Given the description of an element on the screen output the (x, y) to click on. 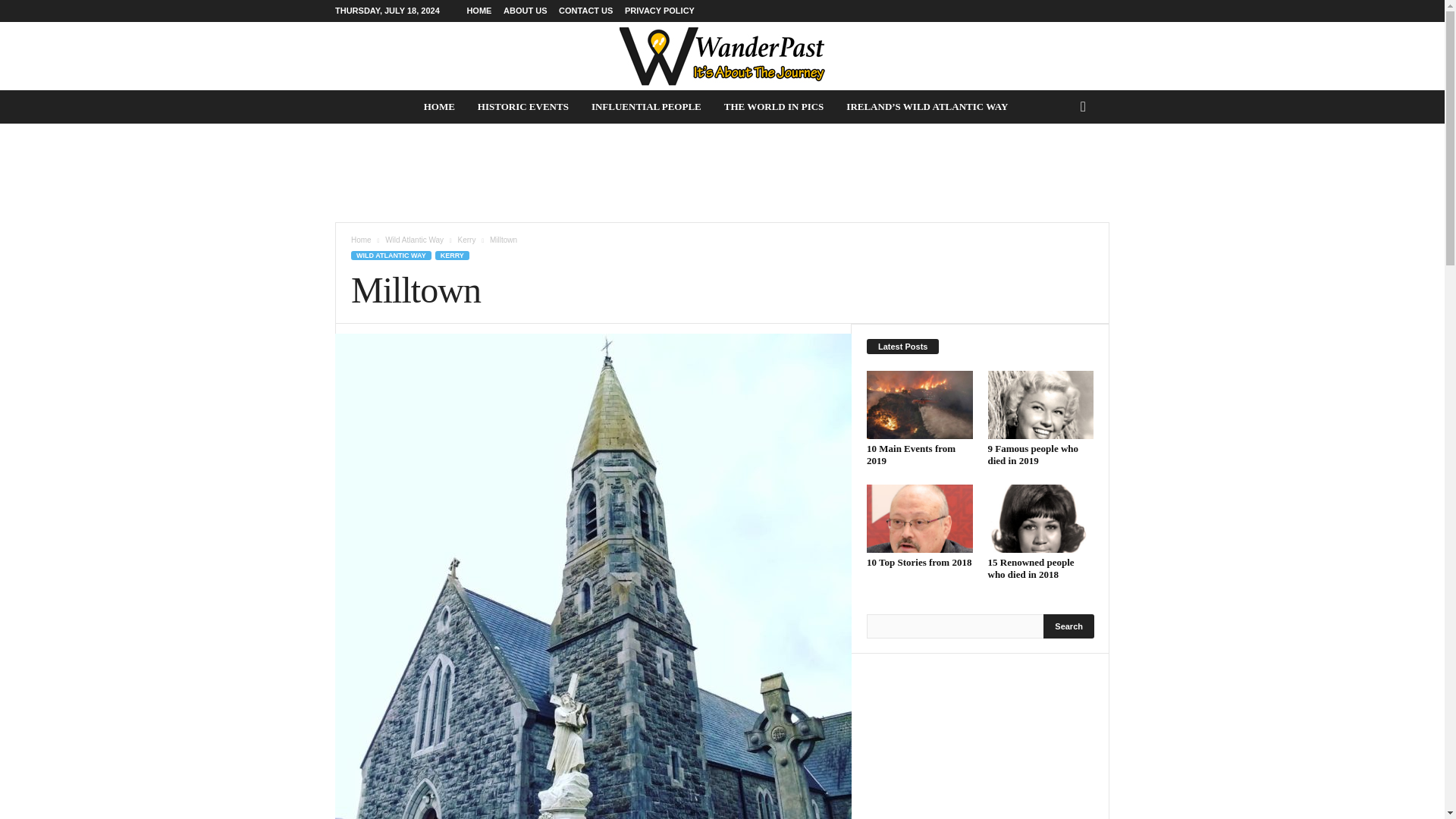
PRIVACY POLICY (659, 10)
THE WORLD IN PICS (774, 106)
Search (1068, 626)
View all posts in Kerry (467, 239)
ABOUT US (525, 10)
Advertisement (721, 172)
INFLUENTIAL PEOPLE (646, 106)
HOME (478, 10)
View all posts in Wild Atlantic Way (414, 239)
Wild Atlantic Way (414, 239)
CONTACT US (585, 10)
Home (360, 239)
KERRY (451, 255)
HISTORIC EVENTS (522, 106)
